Given the description of an element on the screen output the (x, y) to click on. 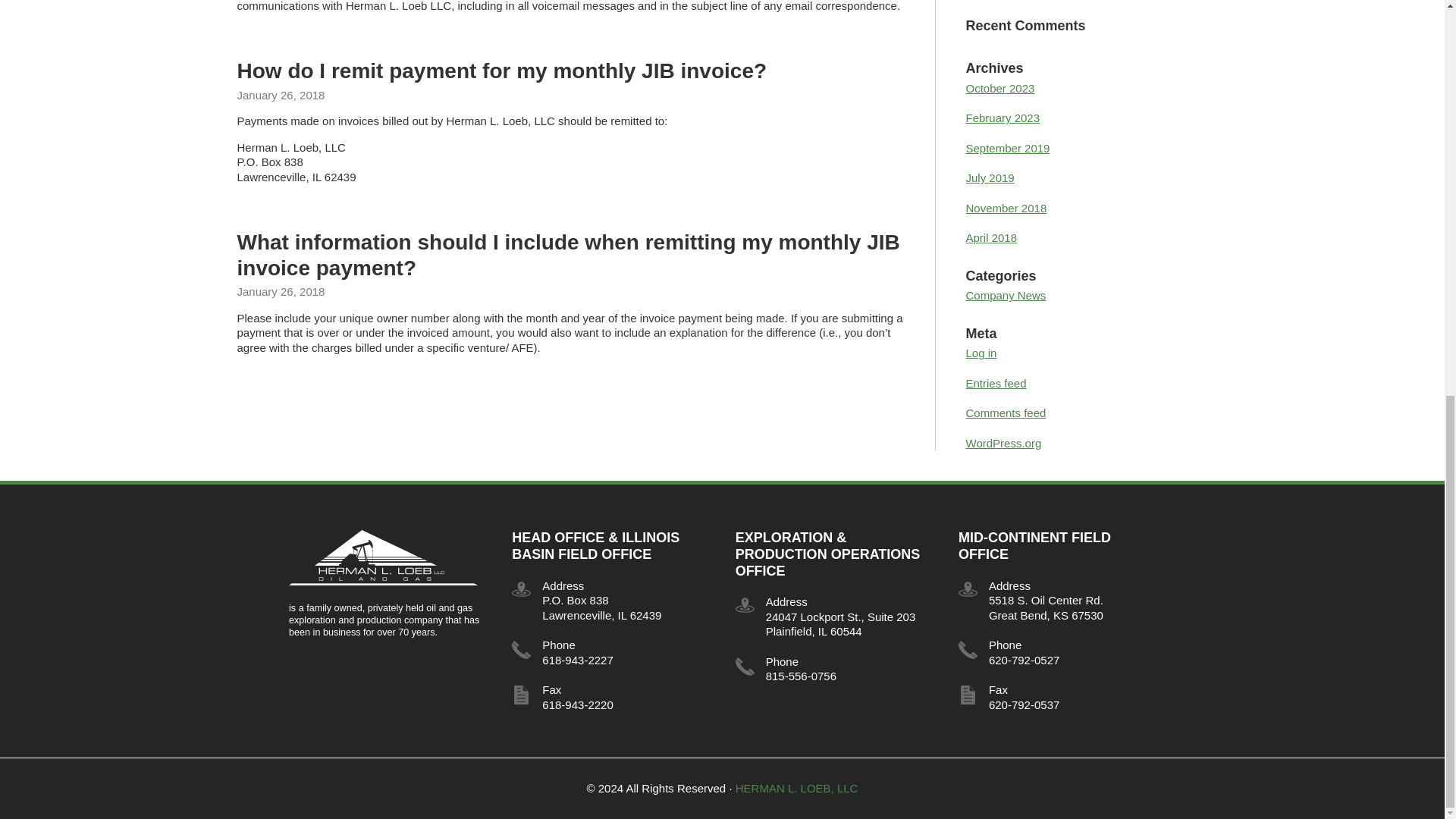
How do I remit payment for my monthly JIB invoice? (501, 70)
